Given the description of an element on the screen output the (x, y) to click on. 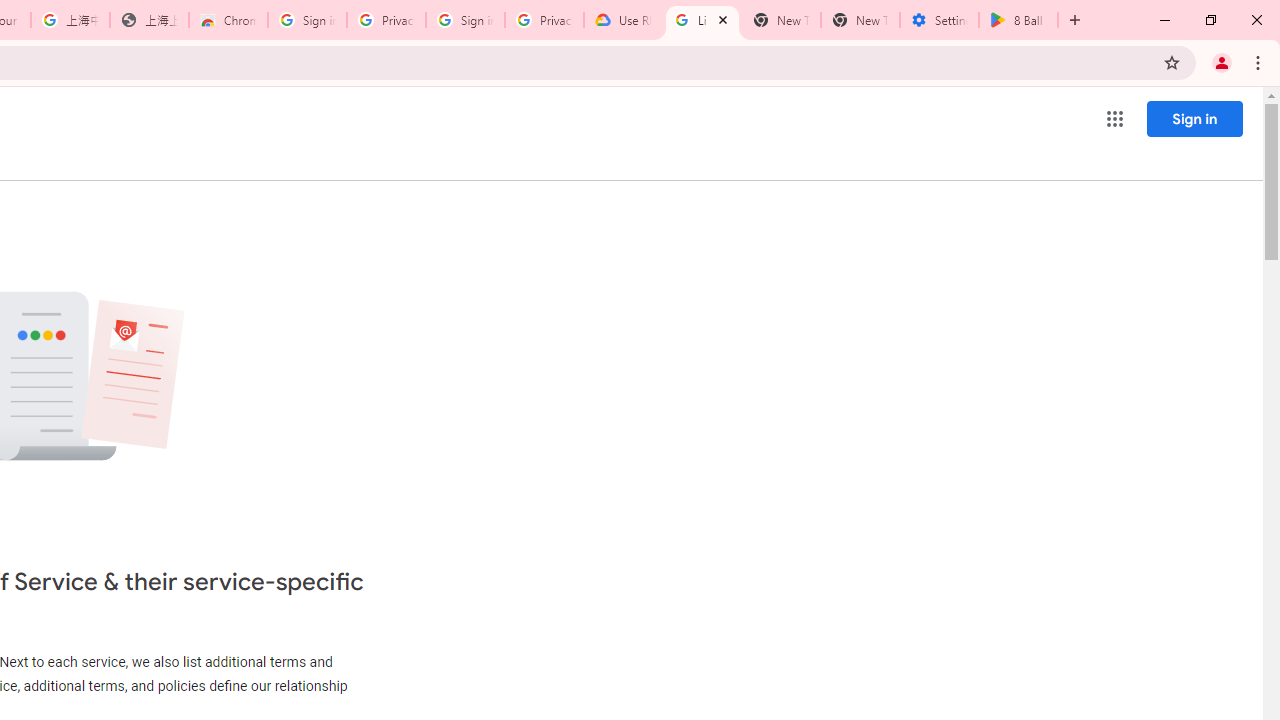
Sign in - Google Accounts (306, 20)
Sign in - Google Accounts (465, 20)
Settings - System (939, 20)
